Given the description of an element on the screen output the (x, y) to click on. 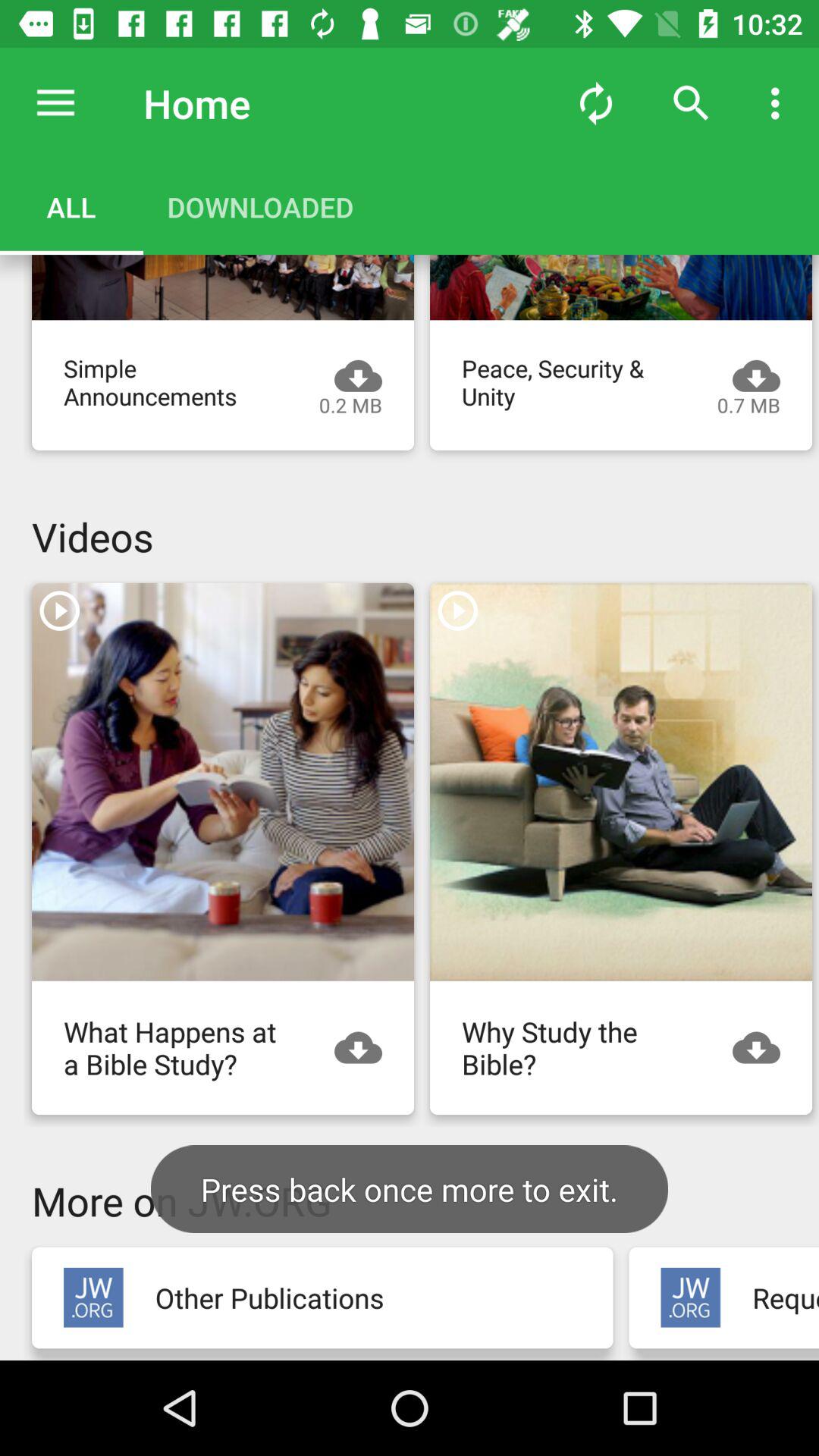
download the video (620, 287)
